Given the description of an element on the screen output the (x, y) to click on. 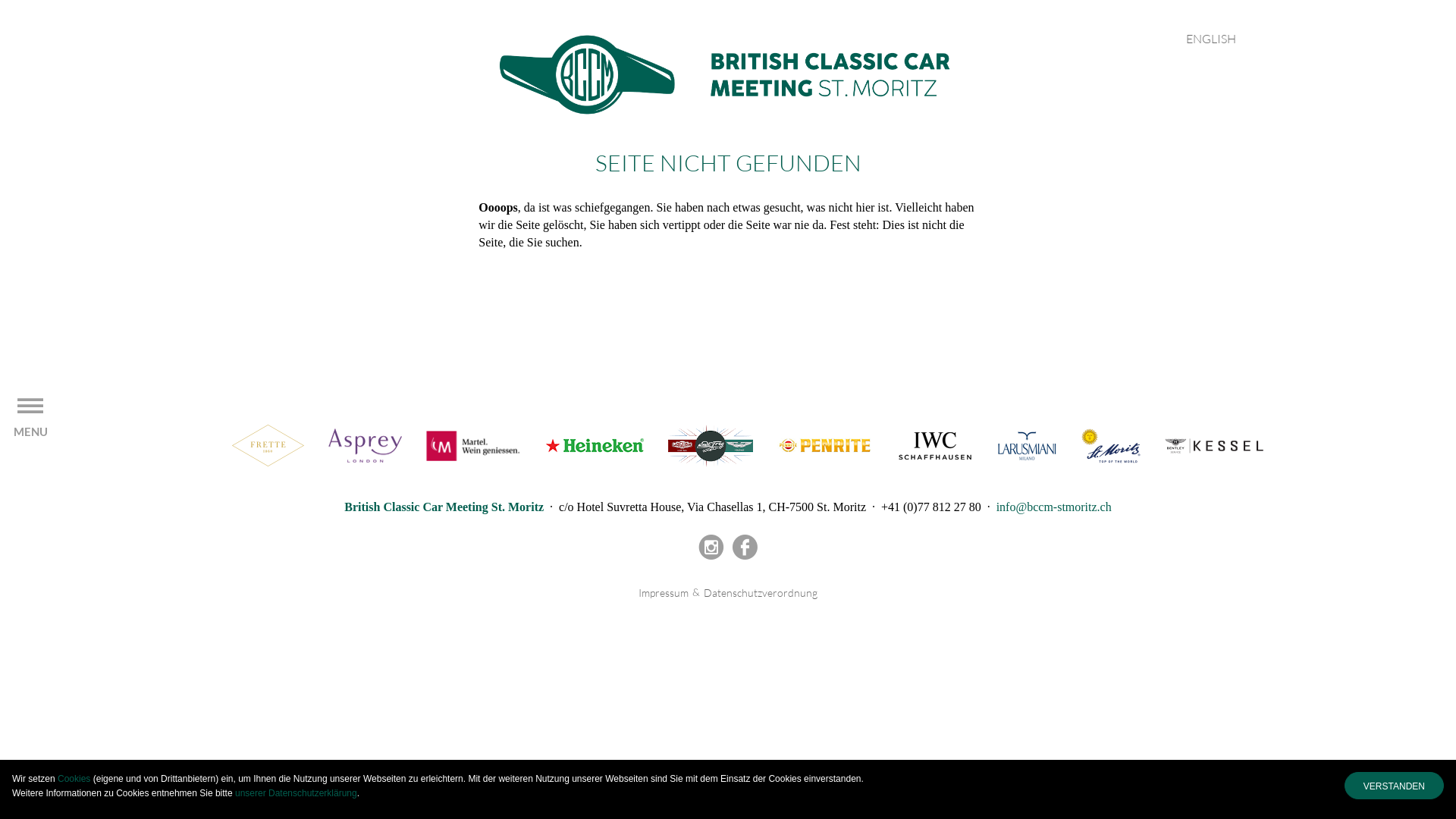
Impressum Element type: text (663, 592)
Cookies Element type: text (73, 778)
St. Moritz Element type: hover (1110, 443)
Penrite Element type: hover (825, 443)
Frette Element type: hover (268, 443)
Datenschutzverordnung Element type: text (760, 592)
Heineken Element type: hover (594, 443)
Wein Shop Martel AG St.Gallen Element type: hover (473, 443)
IWC Element type: hover (934, 443)
Asprey Element type: hover (364, 443)
Emil Frey Element type: hover (710, 443)
larusmiani Element type: hover (1026, 443)
Kessel Element type: hover (1213, 443)
info@bccm-stmoritz.ch Element type: text (1053, 506)
VERSTANDEN Element type: text (1393, 785)
ENGLISH Element type: text (1211, 38)
MENU Element type: text (30, 415)
